Given the description of an element on the screen output the (x, y) to click on. 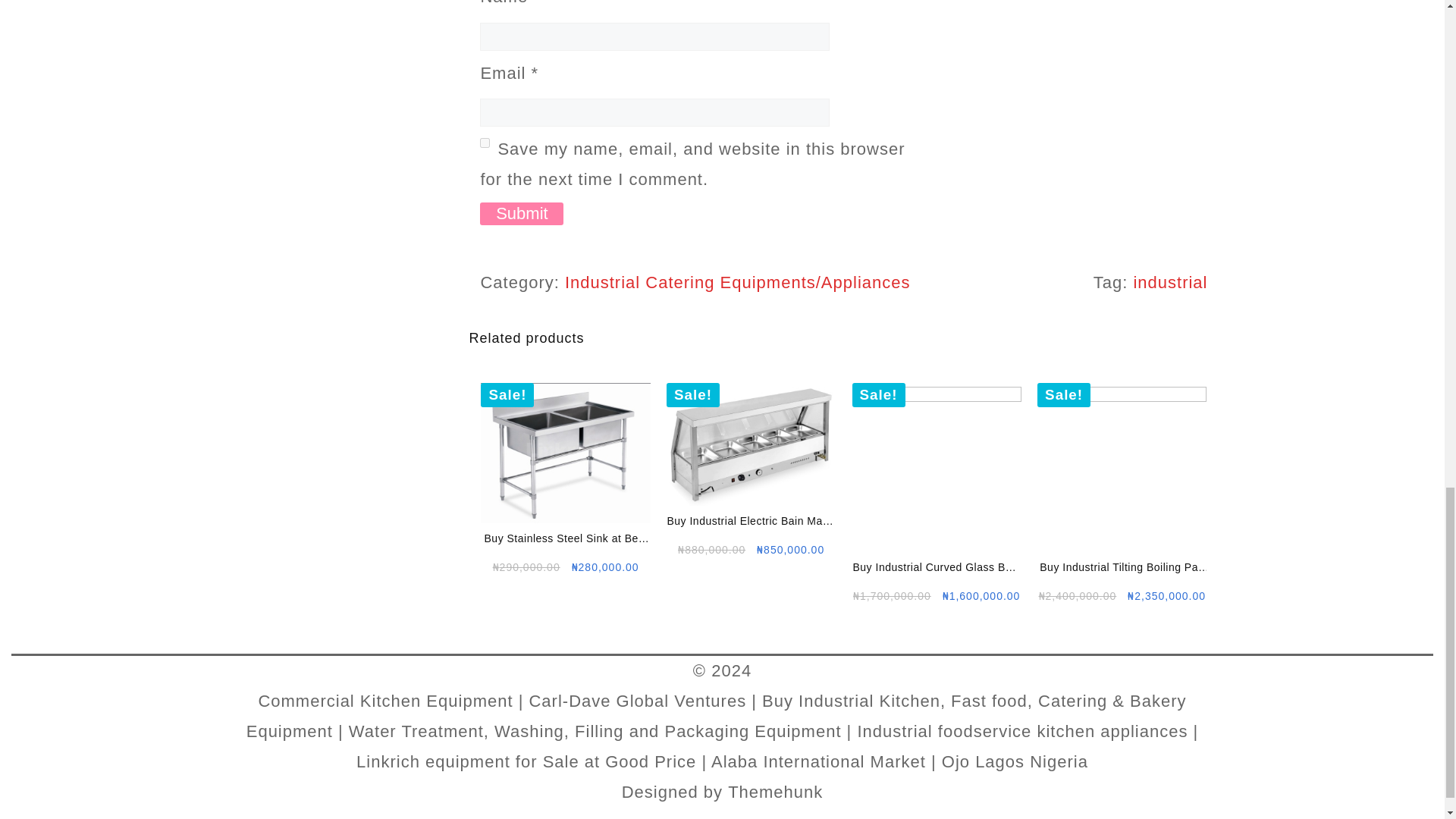
yes (484, 143)
Submit (521, 213)
